Given the description of an element on the screen output the (x, y) to click on. 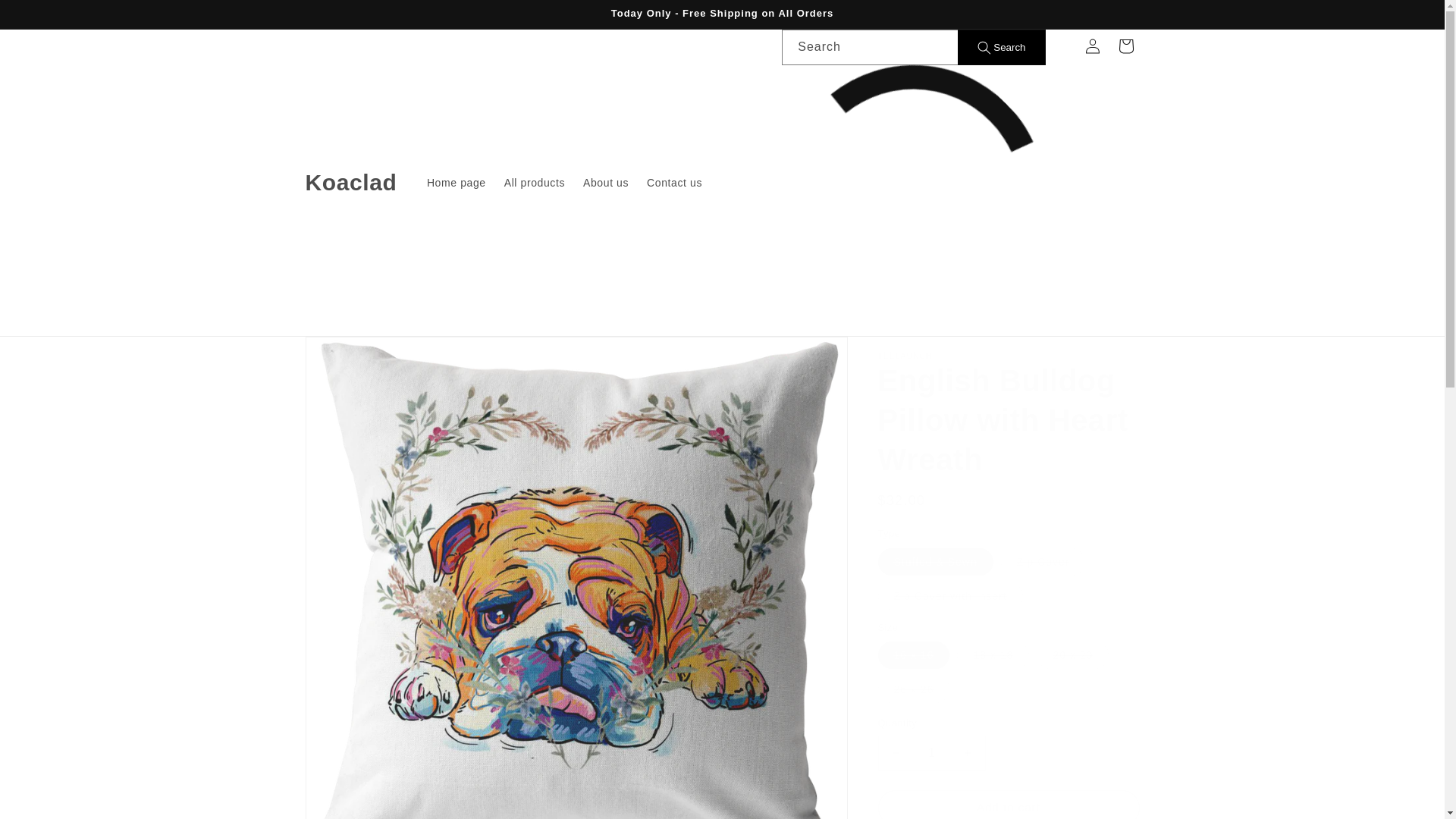
All products (534, 183)
Home page (456, 183)
Skip to content (45, 17)
Search (1001, 47)
Add to cart (1008, 804)
Koaclad (351, 182)
1 (931, 753)
About us (605, 183)
Cart (1124, 46)
